Given the description of an element on the screen output the (x, y) to click on. 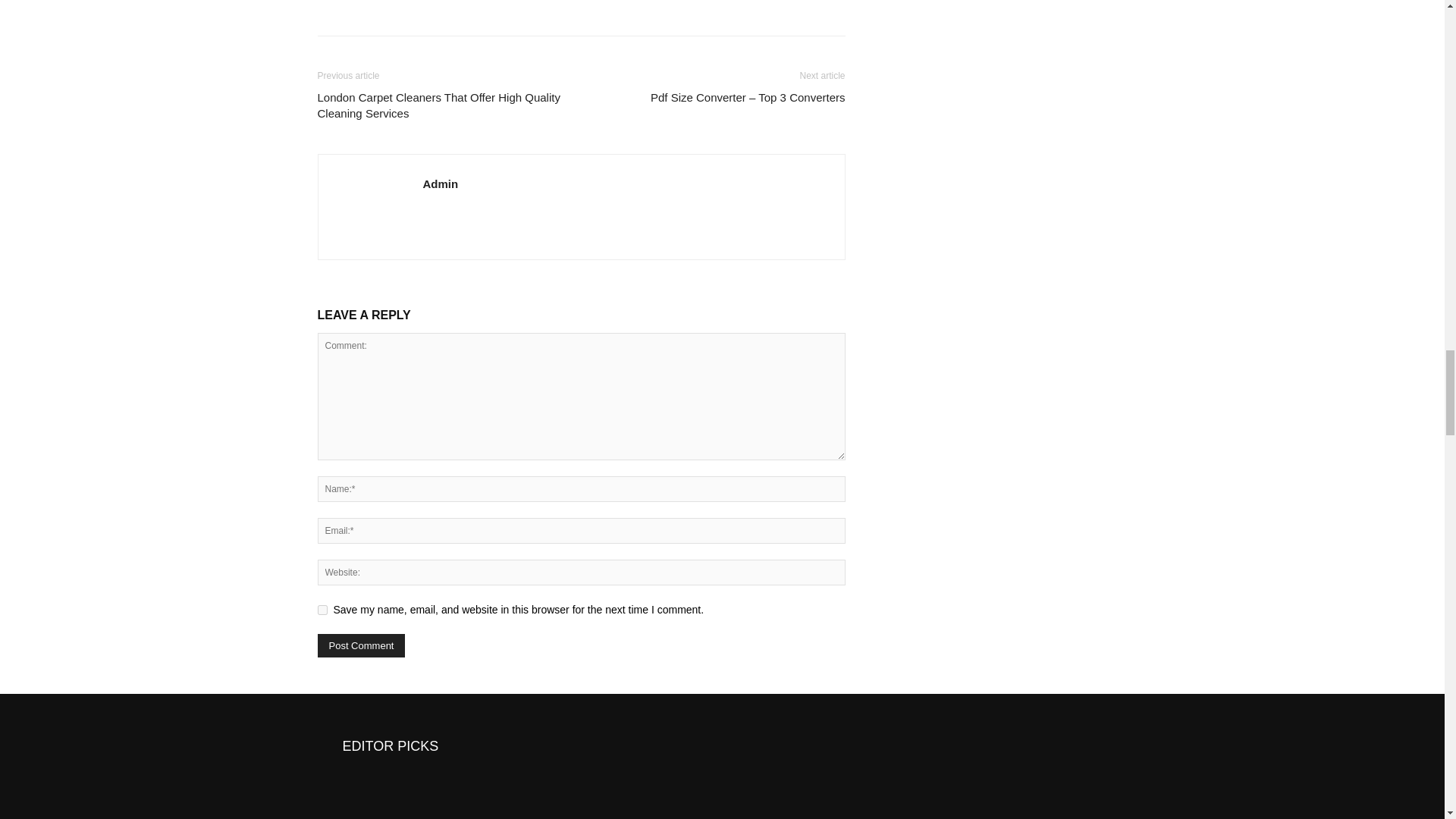
yes (321, 610)
Post Comment (360, 645)
